Given the description of an element on the screen output the (x, y) to click on. 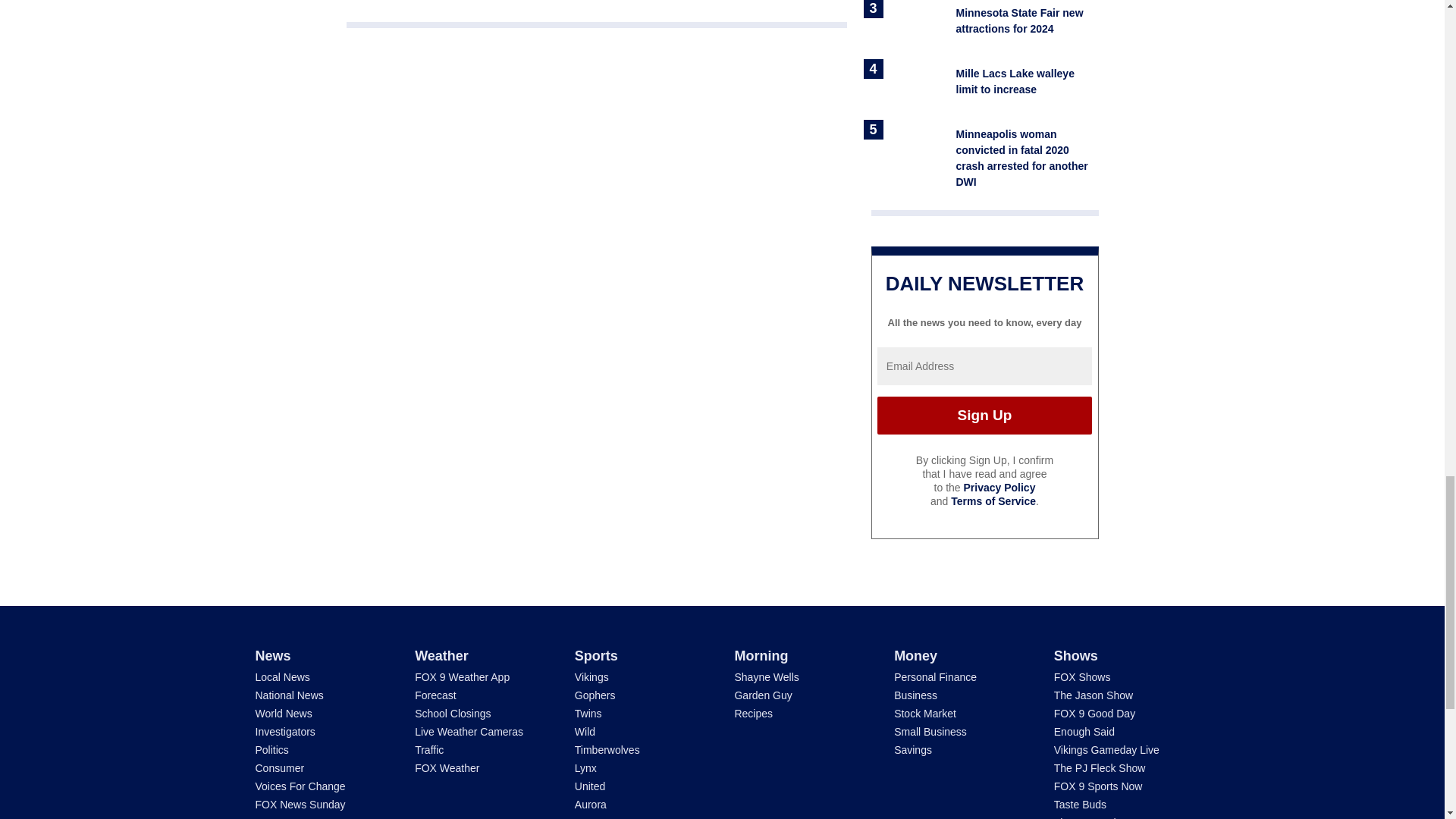
Sign Up (984, 415)
